Given the description of an element on the screen output the (x, y) to click on. 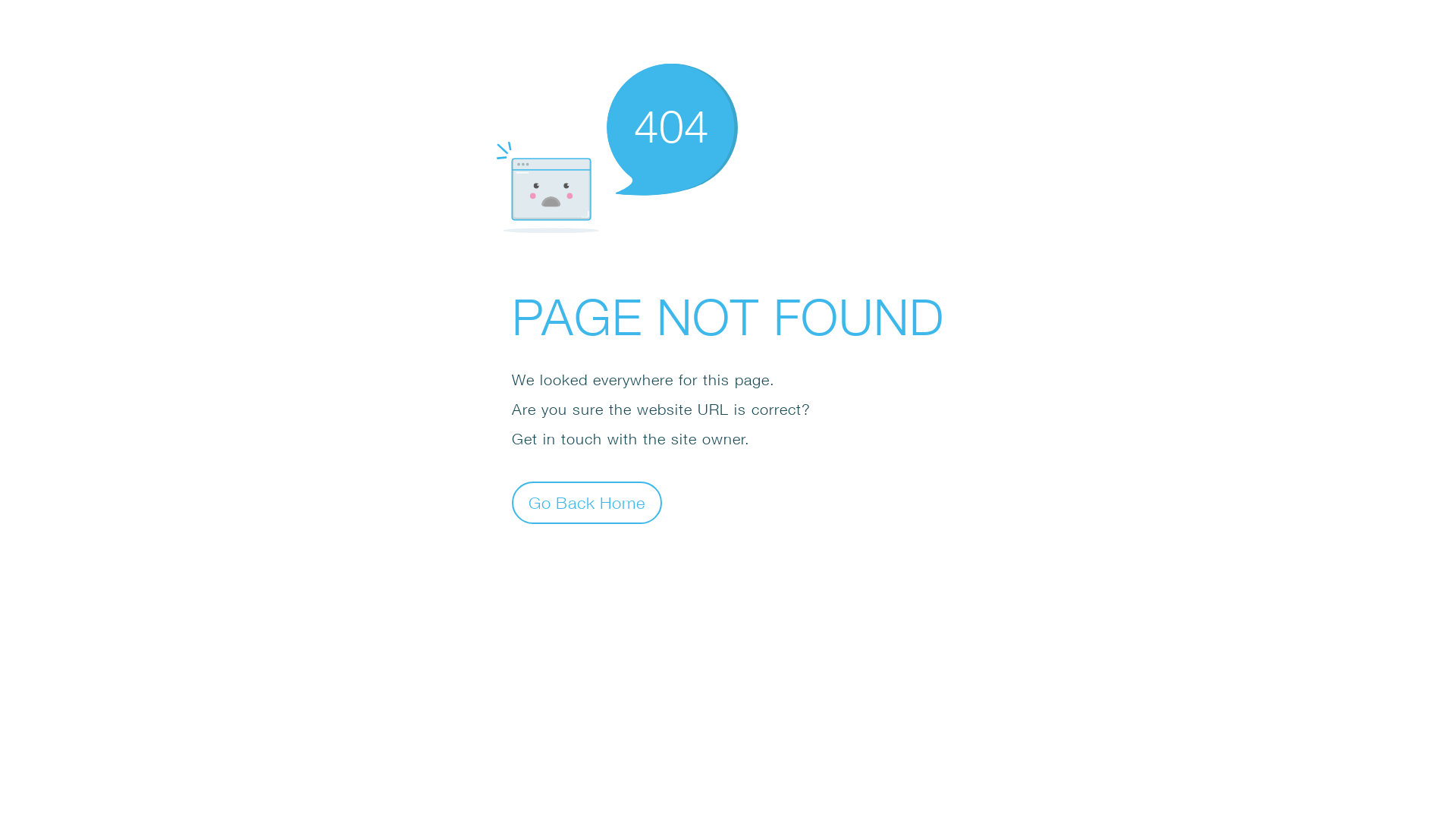
Go Back Home Element type: text (586, 502)
